Given the description of an element on the screen output the (x, y) to click on. 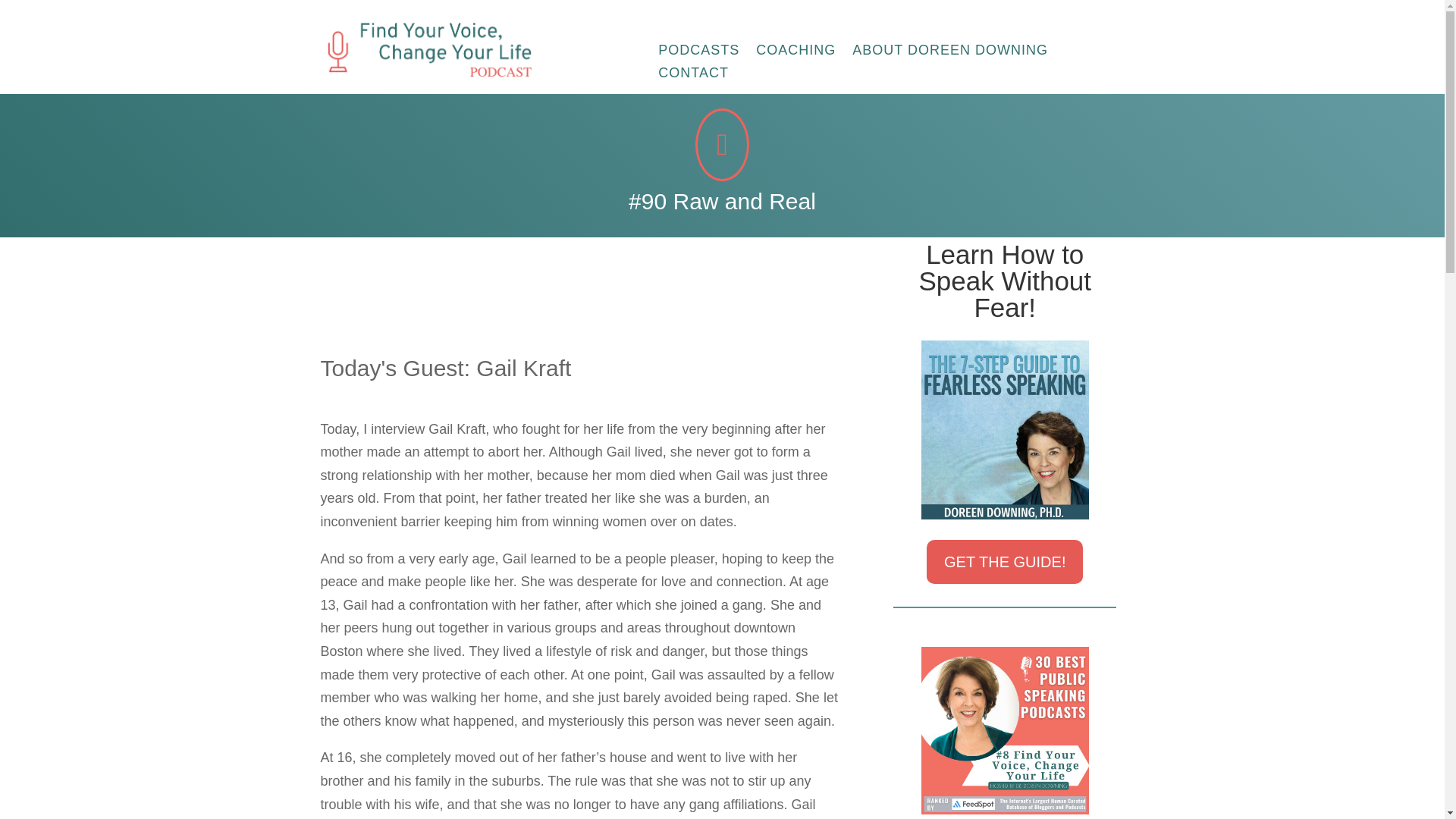
CONTACT (693, 75)
Downing-7-STEPS (1005, 429)
PODCASTS (698, 53)
30best (1005, 730)
GET THE GUIDE! (1004, 561)
COACHING (795, 53)
findyourvoice-logo (425, 48)
ABOUT DOREEN DOWNING (949, 53)
